Given the description of an element on the screen output the (x, y) to click on. 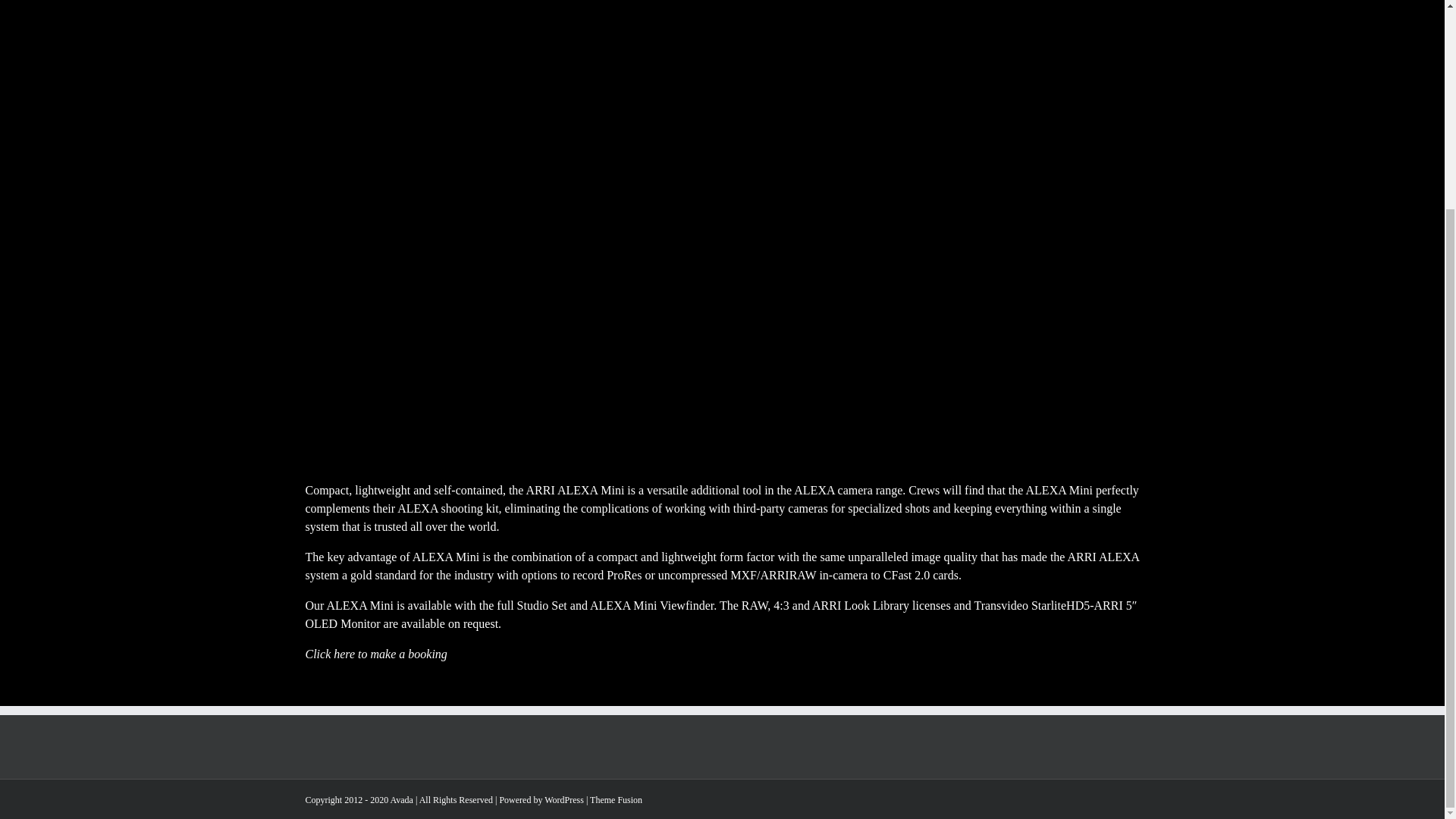
WordPress (563, 799)
Theme Fusion (615, 799)
Click here to make a booking (375, 653)
